Given the description of an element on the screen output the (x, y) to click on. 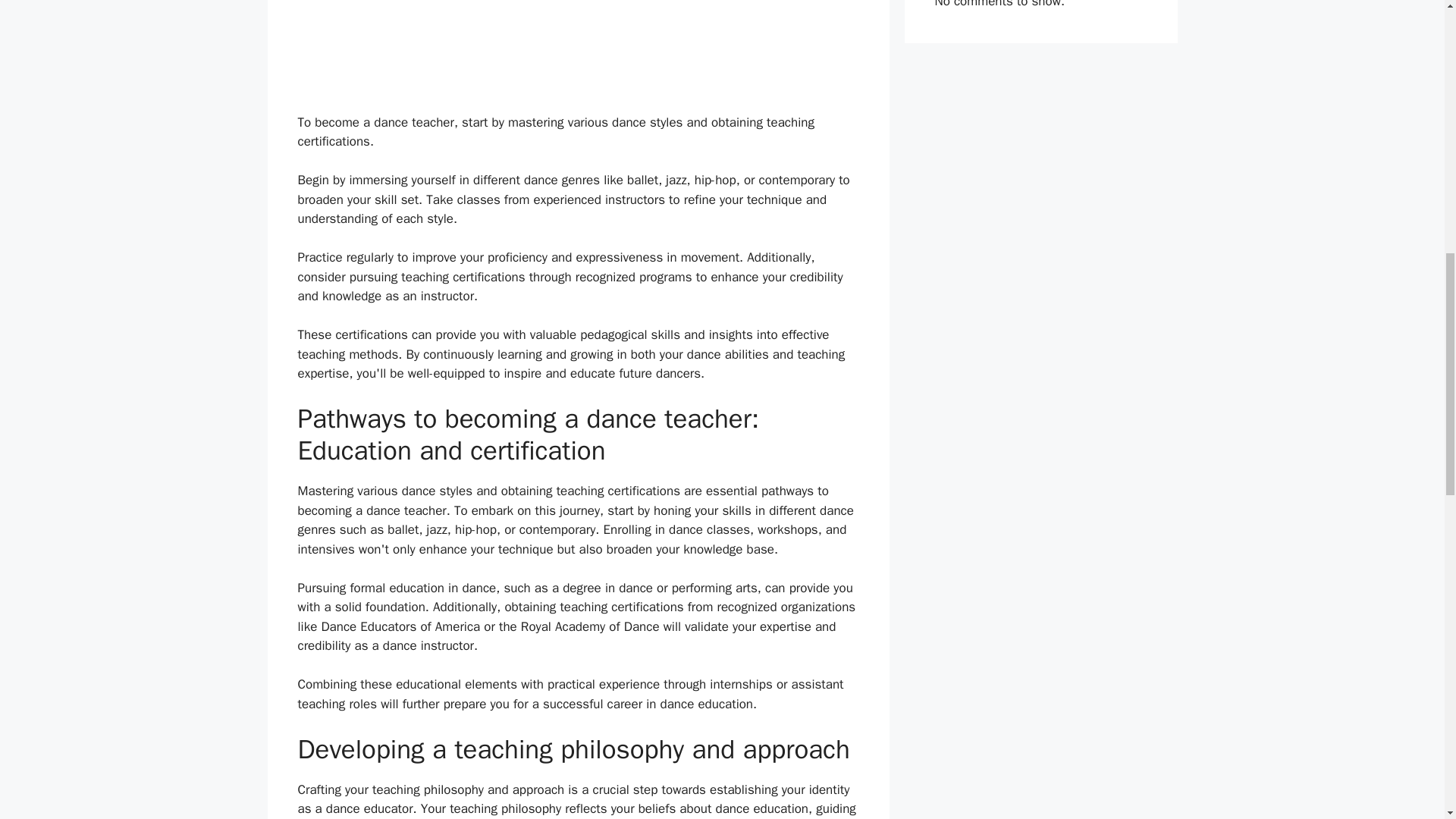
YouTube video player (578, 48)
